Given the description of an element on the screen output the (x, y) to click on. 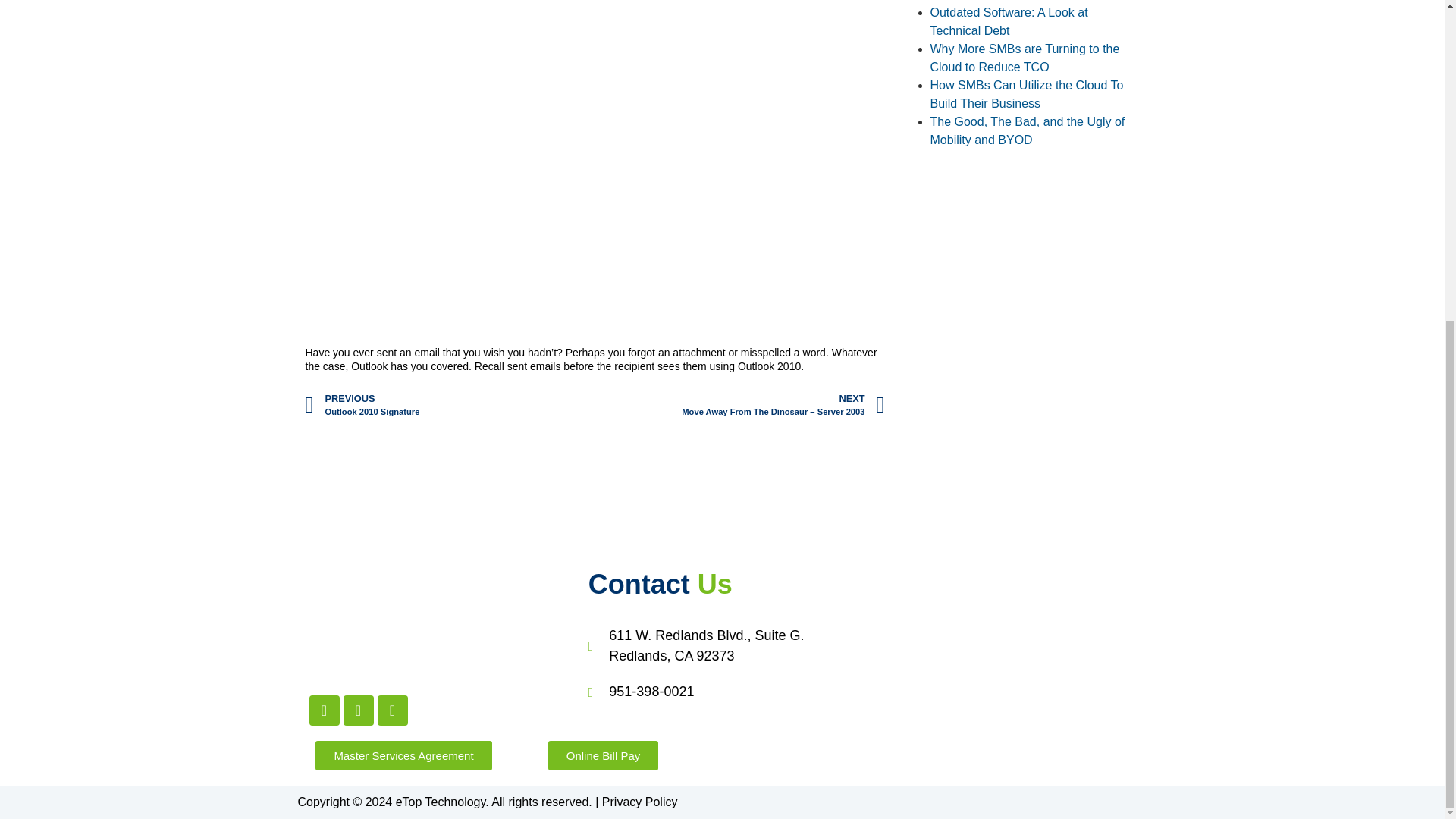
How SMBs Can Utilize the Cloud To Build Their Business (449, 405)
The Good, The Bad, and the Ugly of Mobility and BYOD (1026, 93)
Why More SMBs are Turning to the Cloud to Reduce TCO (1027, 130)
951-398-0021 (1024, 57)
Outdated Software: A Look at Technical Debt (722, 691)
Cyber Insurance with Multi-Factor Authentication (722, 645)
